Given the description of an element on the screen output the (x, y) to click on. 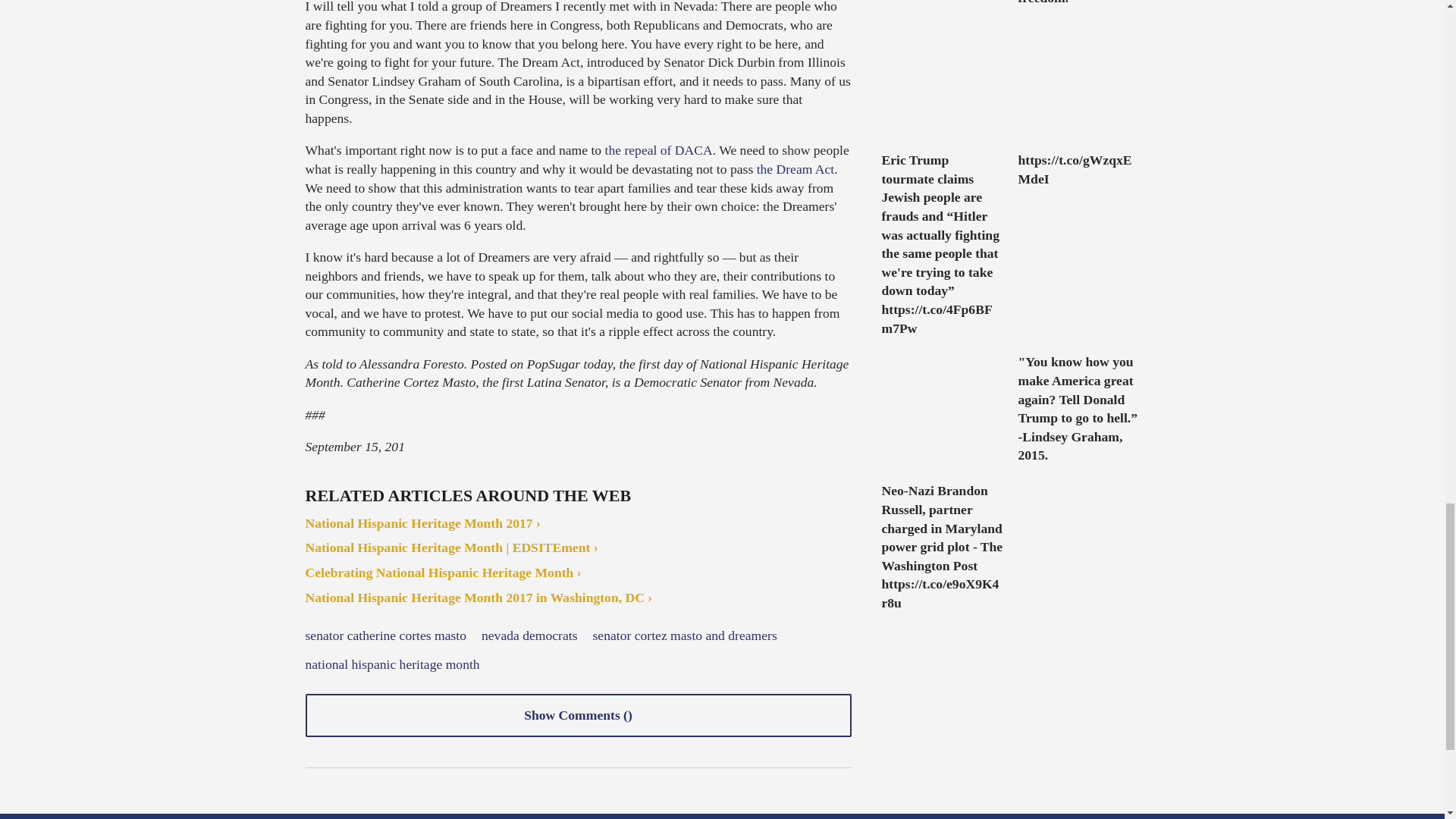
senator catherine cortes masto (384, 635)
the repeal of DACA (659, 150)
senator cortez masto and dreamers (684, 635)
national hispanic heritage month (391, 664)
the Dream Act (795, 168)
nevada democrats (529, 635)
